Given the description of an element on the screen output the (x, y) to click on. 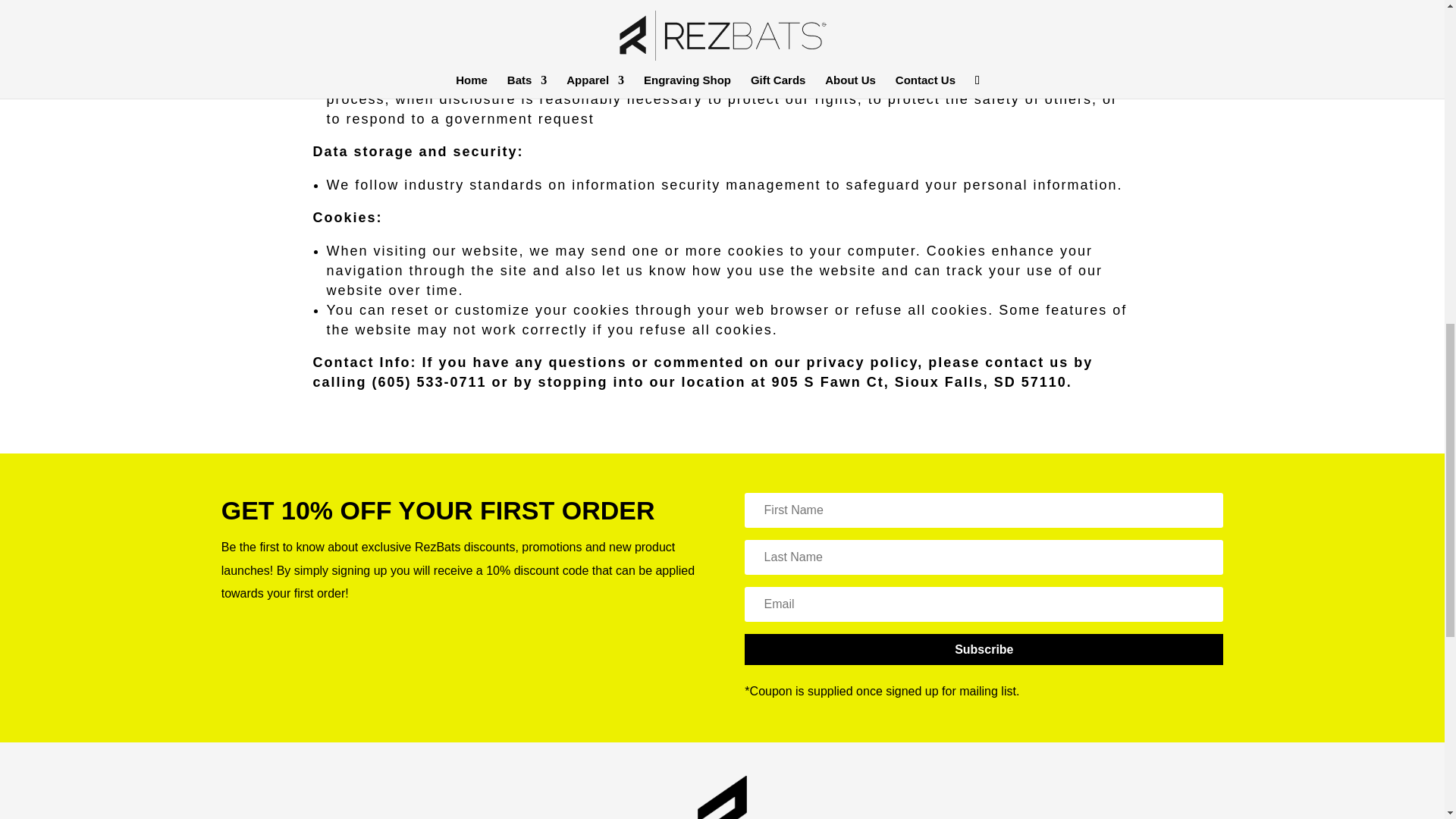
logo (721, 797)
Subscribe (983, 649)
